Given the description of an element on the screen output the (x, y) to click on. 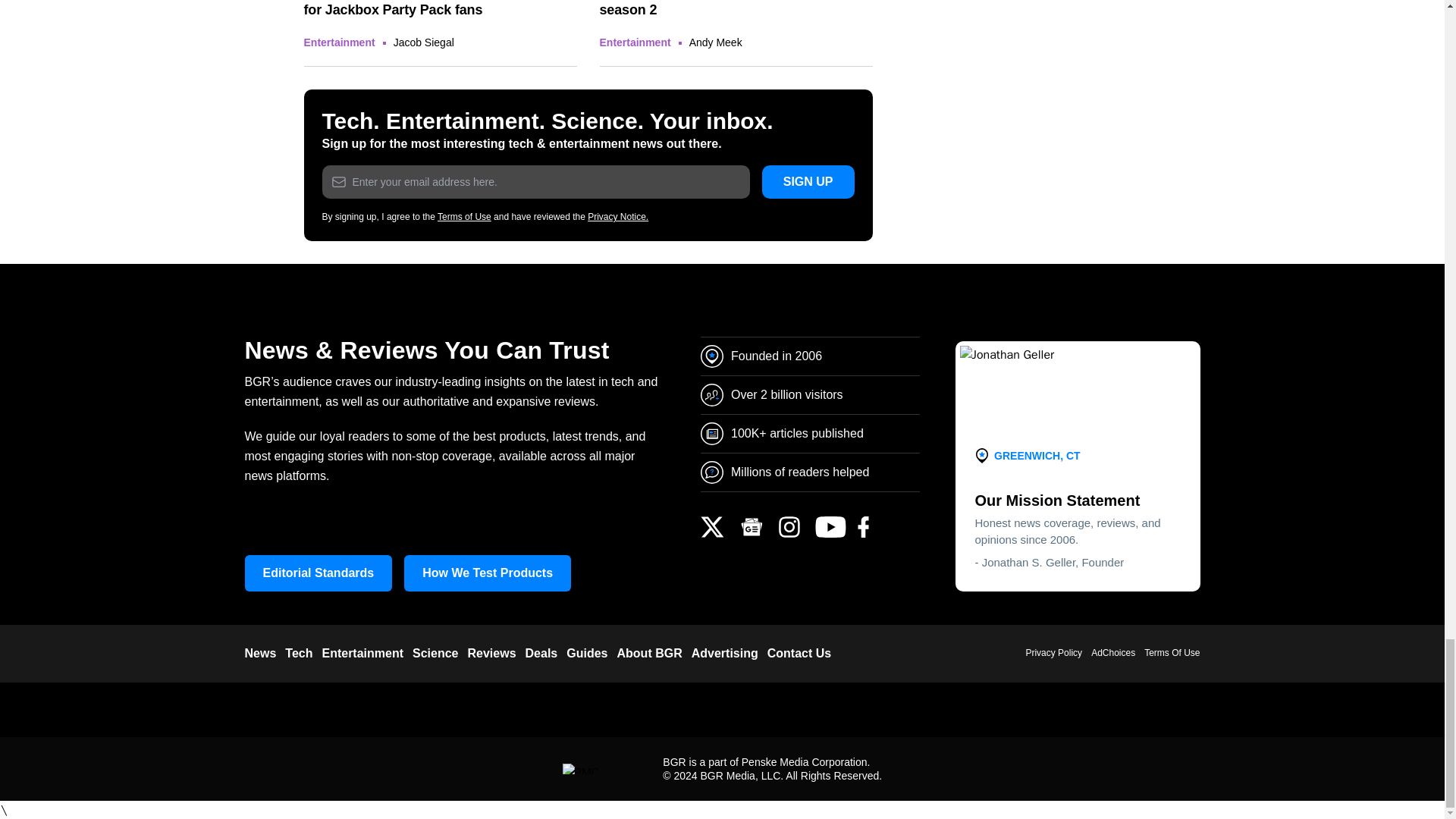
Posts by Andy Meek (715, 42)
Posts by Jacob Siegal (423, 42)
